Given the description of an element on the screen output the (x, y) to click on. 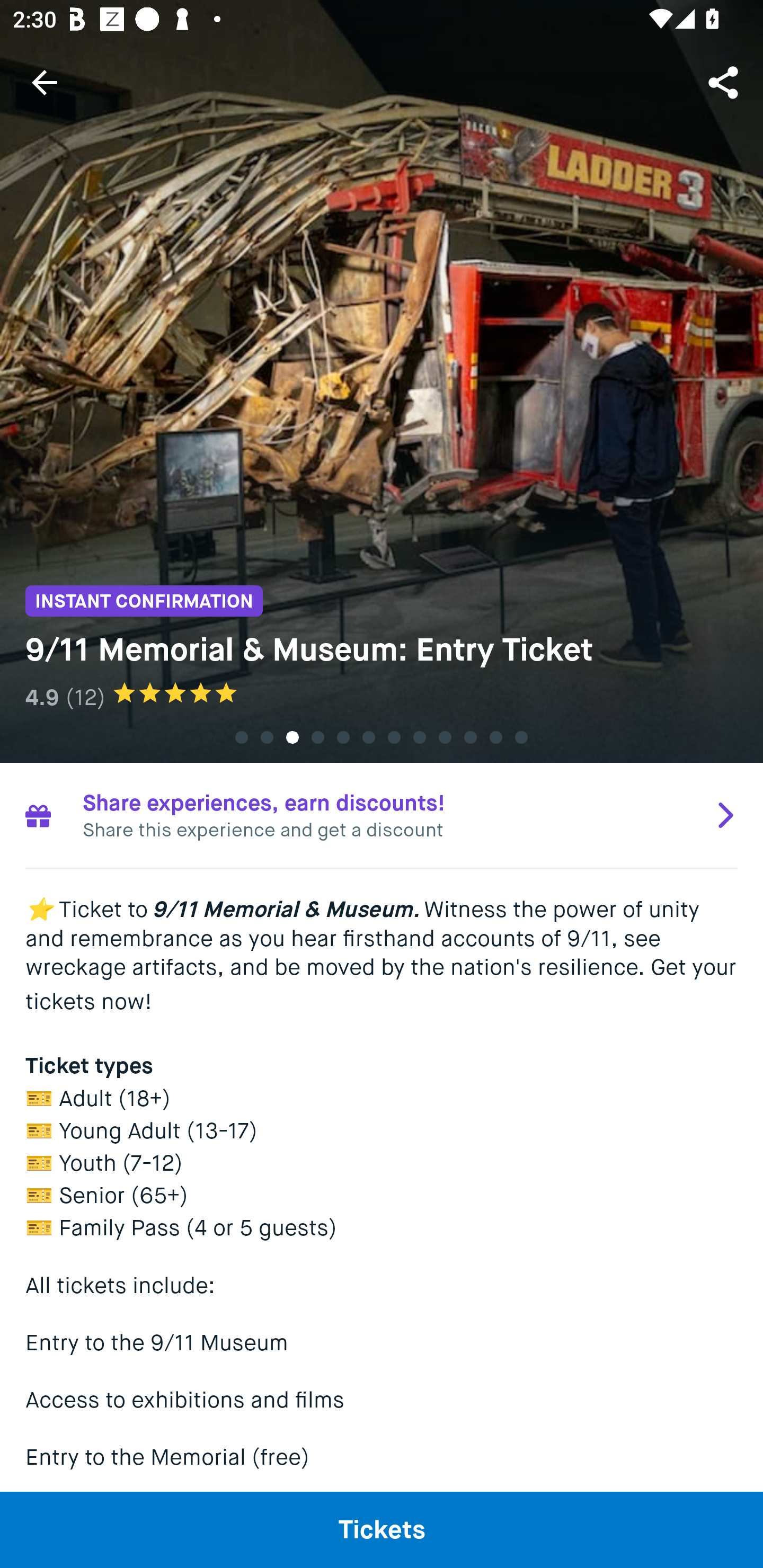
Navigate up (44, 82)
Share (724, 81)
(12) (85, 697)
Tickets (381, 1529)
